Given the description of an element on the screen output the (x, y) to click on. 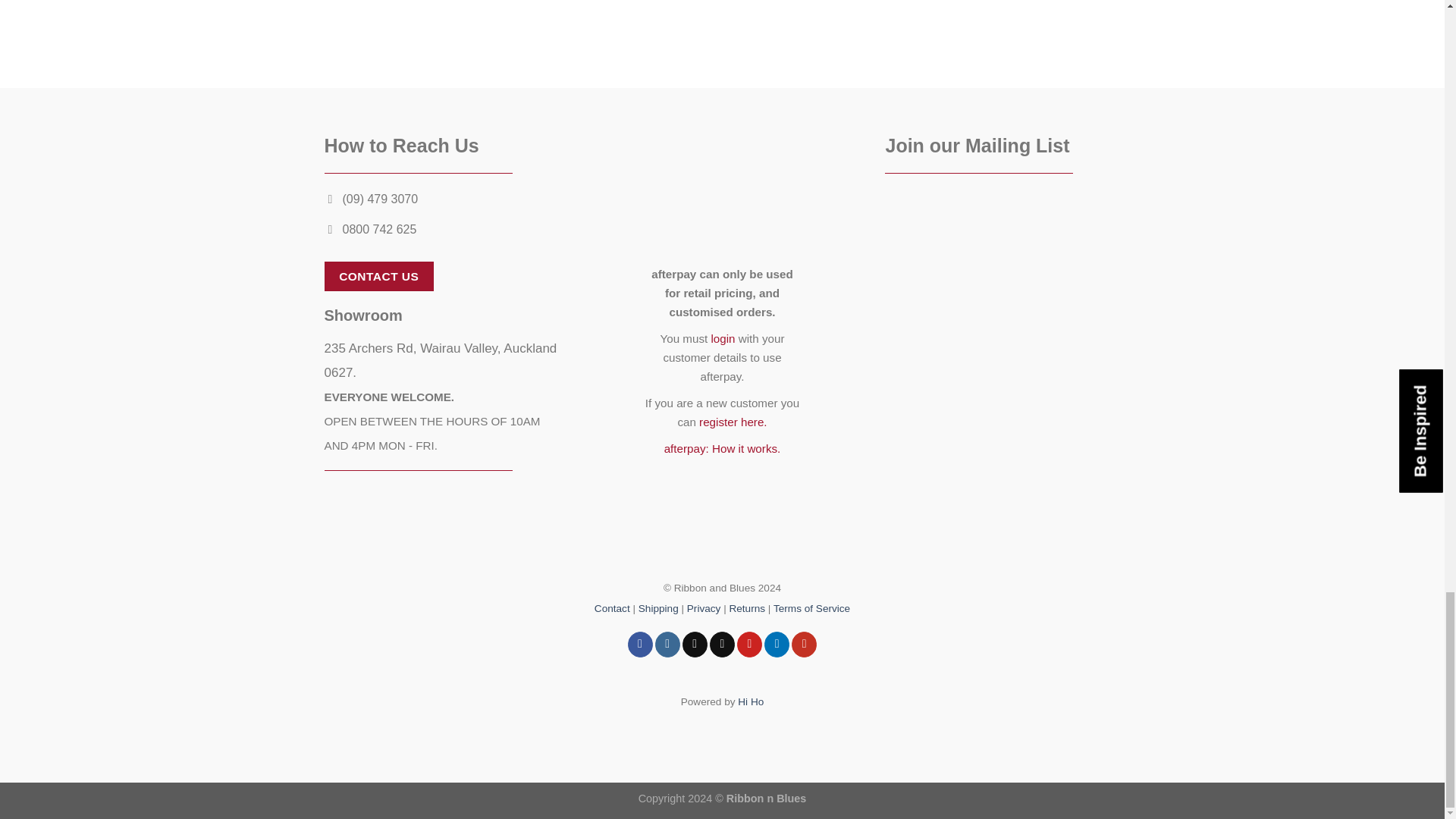
Follow on Pinterest (748, 644)
Follow on YouTube (804, 644)
Follow on LinkedIn (776, 644)
Send us an email (722, 644)
Follow on Instagram (667, 644)
Follow on TikTok (694, 644)
Follow on Facebook (639, 644)
